Given the description of an element on the screen output the (x, y) to click on. 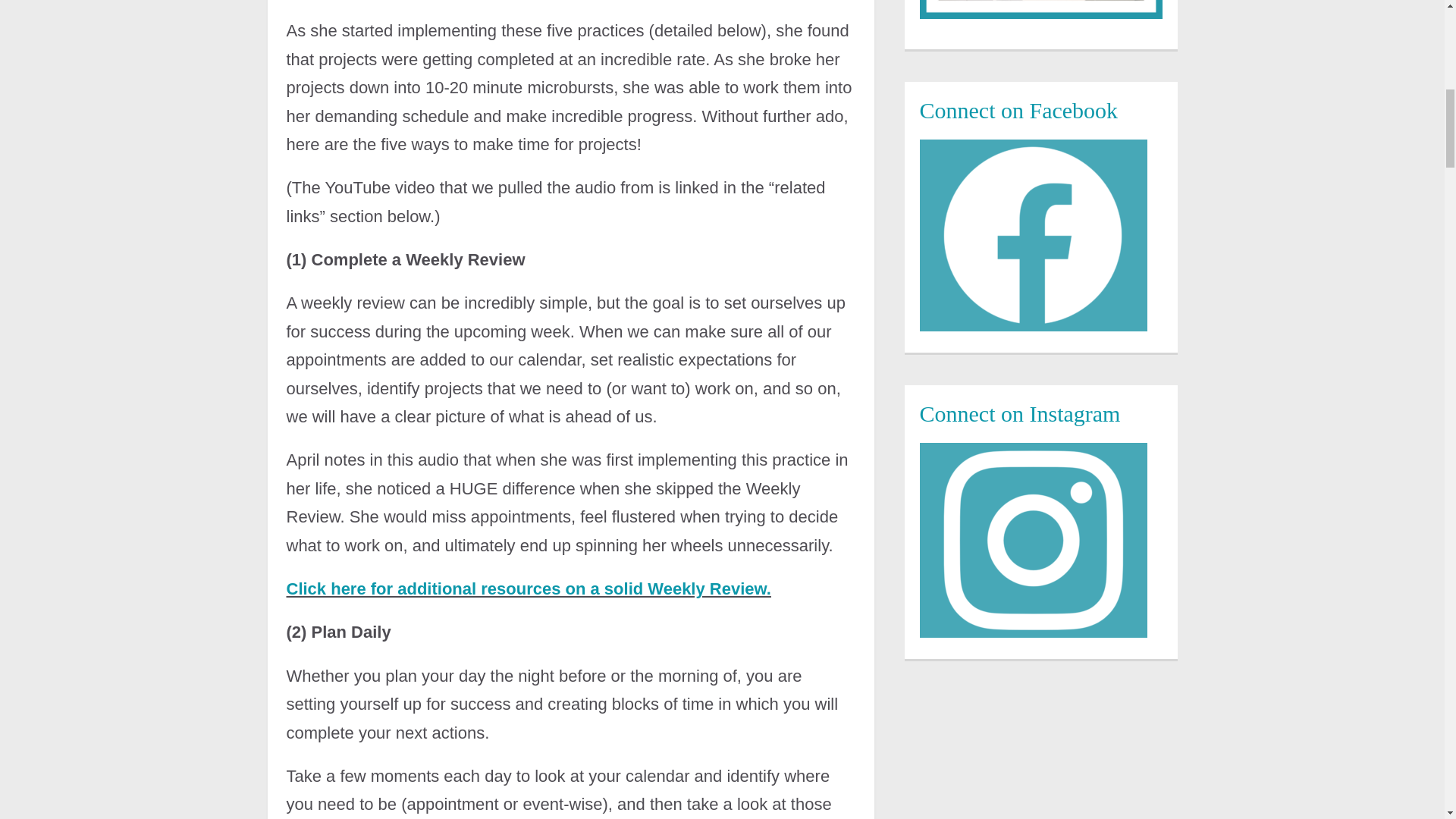
Connect on Instagram (1032, 540)
